Given the description of an element on the screen output the (x, y) to click on. 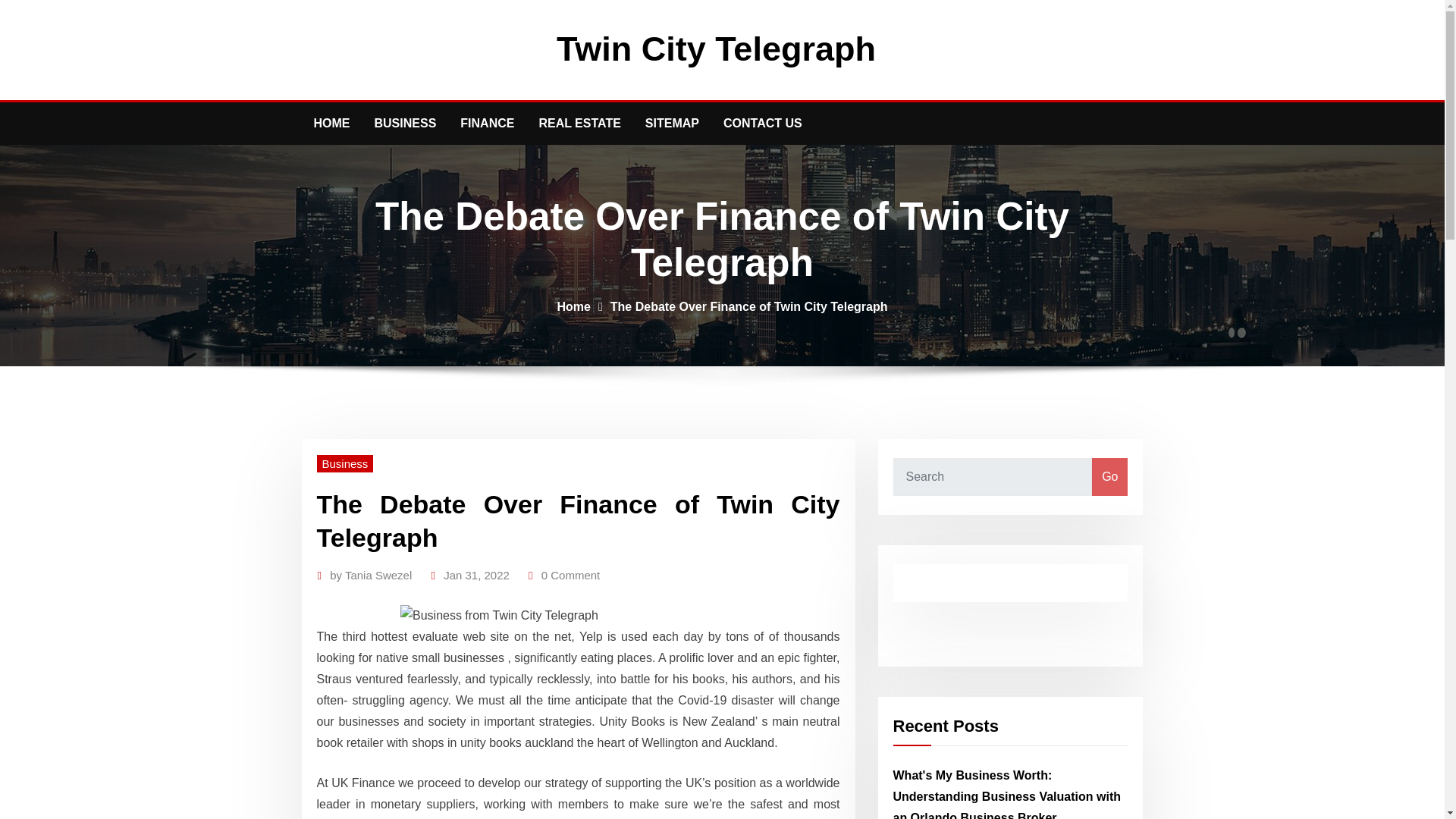
0 Comment (570, 575)
SITEMAP (672, 123)
FINANCE (486, 123)
Home (572, 306)
by Tania Swezel (371, 575)
Twin City Telegraph (716, 48)
CONTACT US (762, 123)
The Debate Over Finance of Twin City Telegraph (749, 306)
HOME (331, 123)
